Given the description of an element on the screen output the (x, y) to click on. 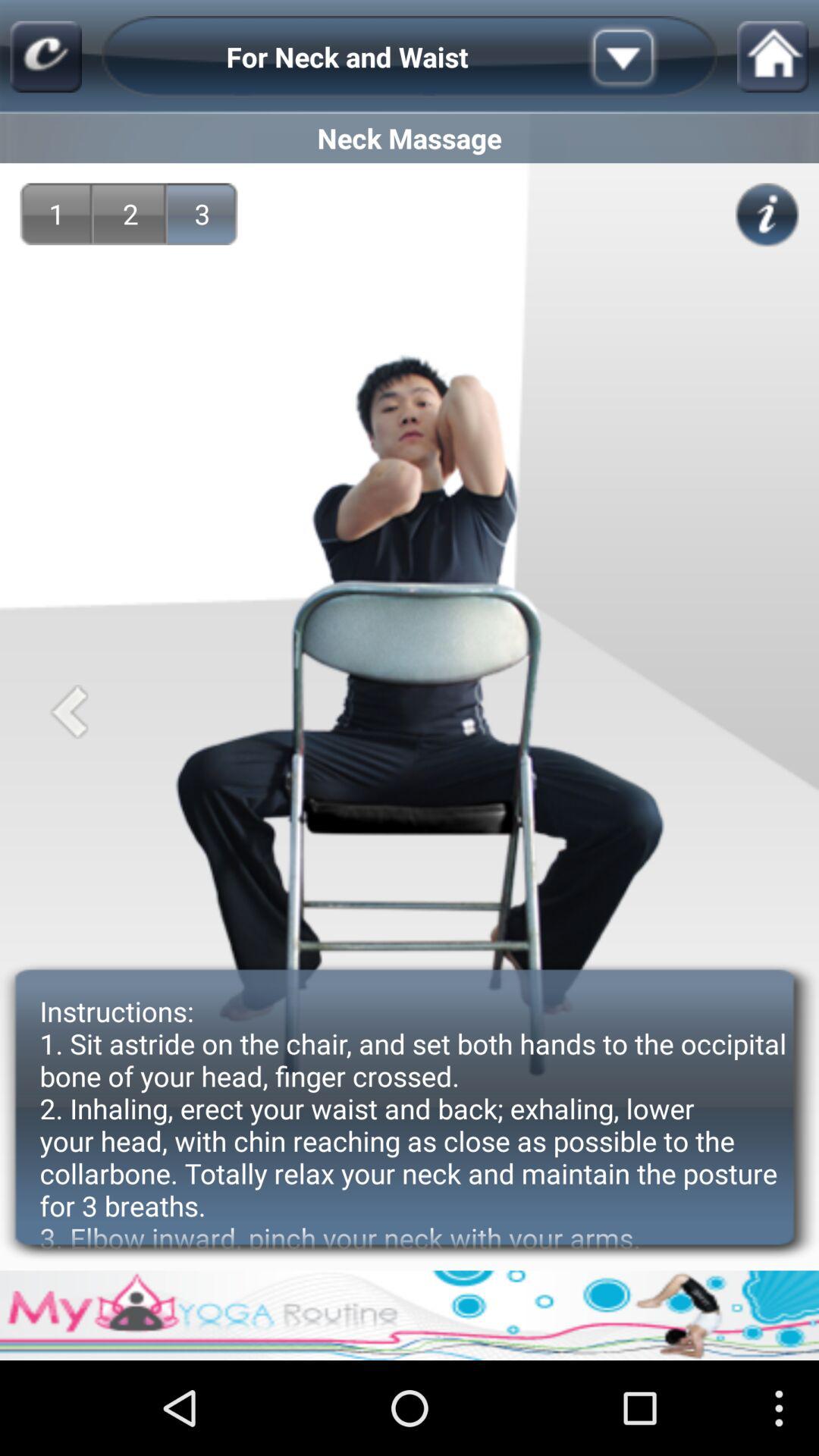
open the app next to 2 (202, 214)
